Given the description of an element on the screen output the (x, y) to click on. 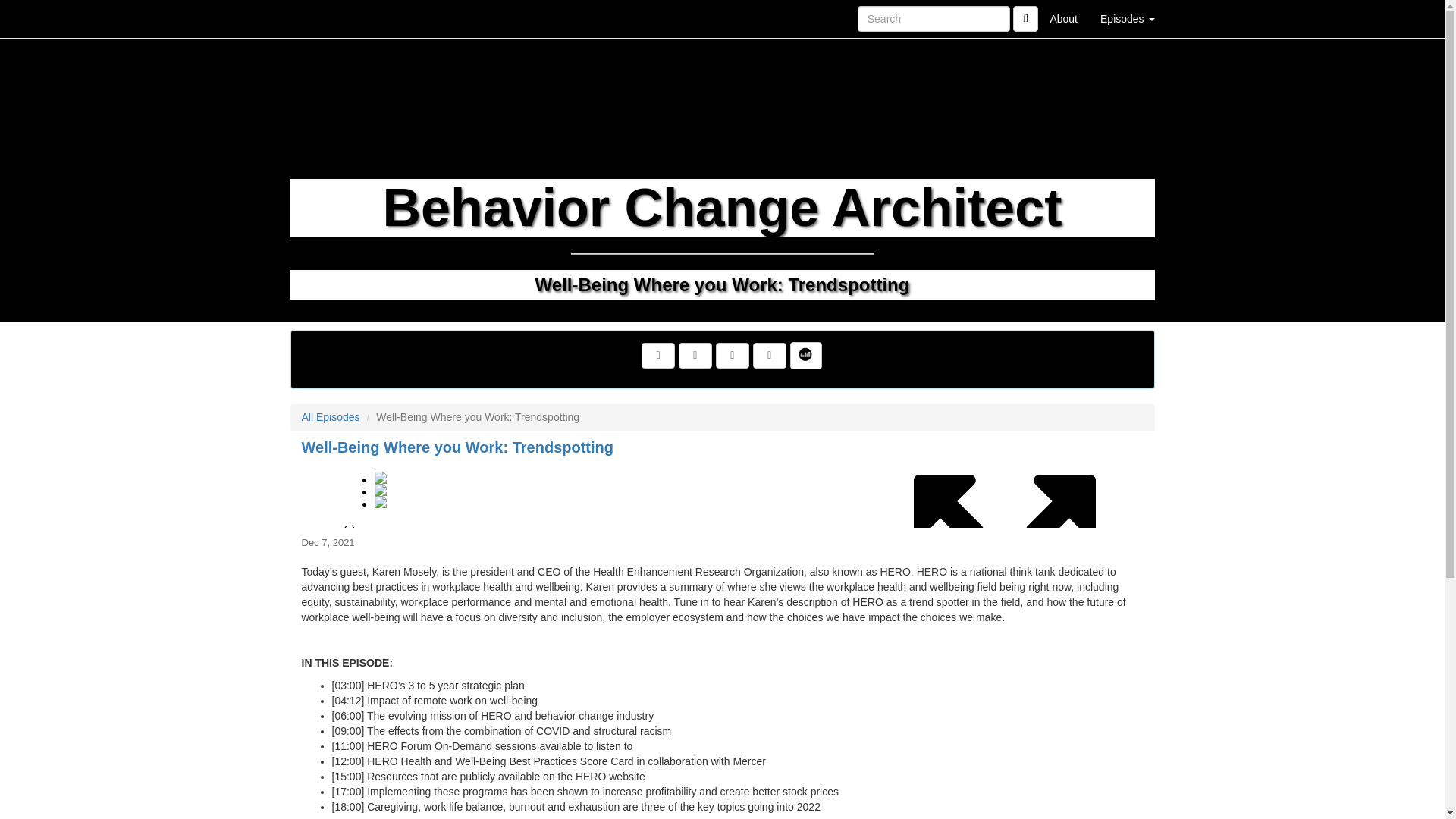
Well-Being Where you Work: Trendspotting (457, 446)
All Episodes (330, 417)
Well-Being Where you Work: Trendspotting (721, 493)
About (1063, 18)
Episodes (1127, 18)
Home Page (320, 18)
